Given the description of an element on the screen output the (x, y) to click on. 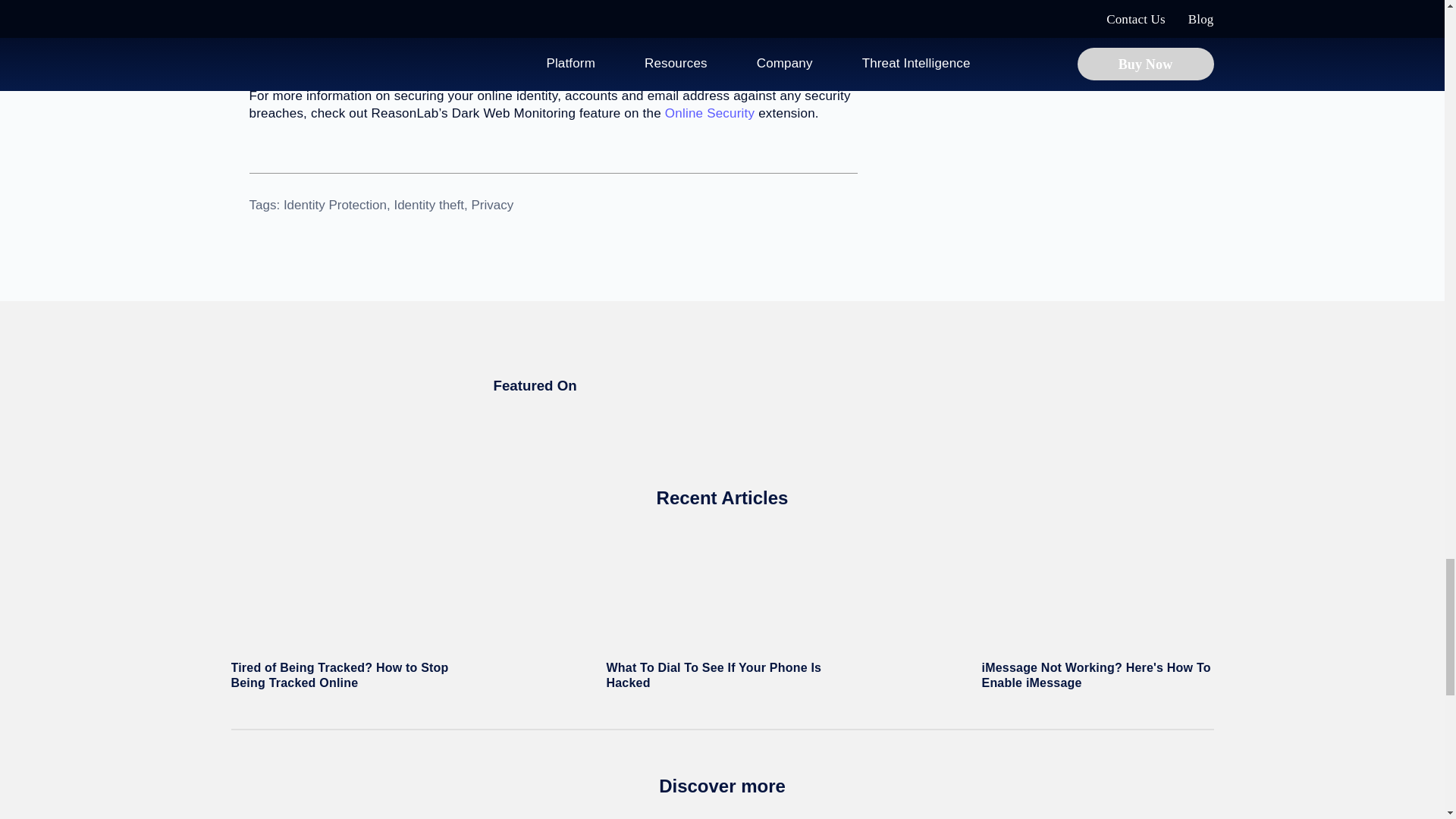
iMessage Not Working? Here's How To Enable iMessage (1096, 611)
Online Security (709, 113)
What To Dial To See If Your Phone Is Hacked (722, 611)
Tired of Being Tracked? How to Stop Being Tracked Online (345, 611)
